Given the description of an element on the screen output the (x, y) to click on. 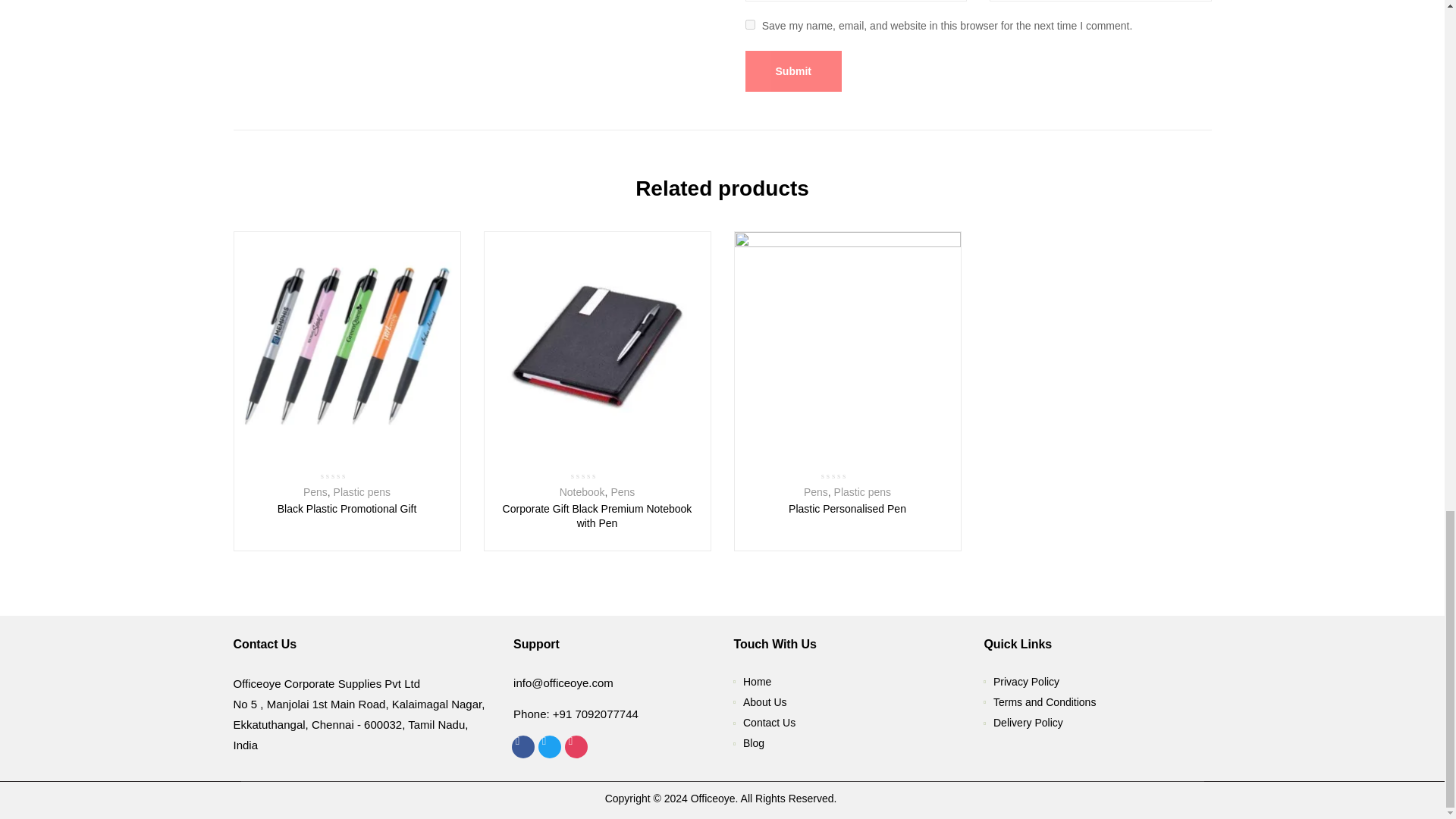
Submit (792, 70)
yes (749, 24)
